Given the description of an element on the screen output the (x, y) to click on. 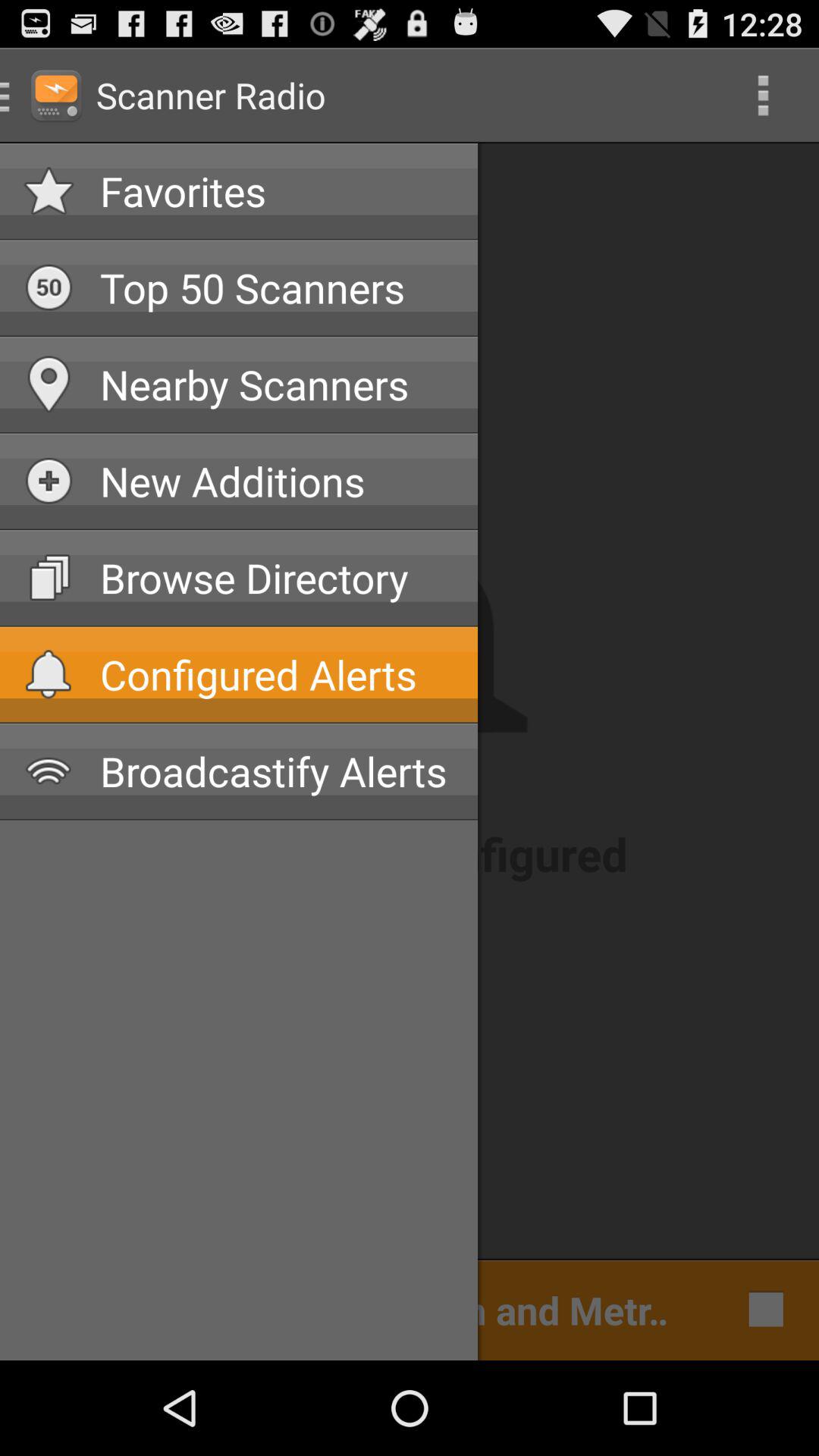
flip to cleveland police dispatch (352, 1309)
